Given the description of an element on the screen output the (x, y) to click on. 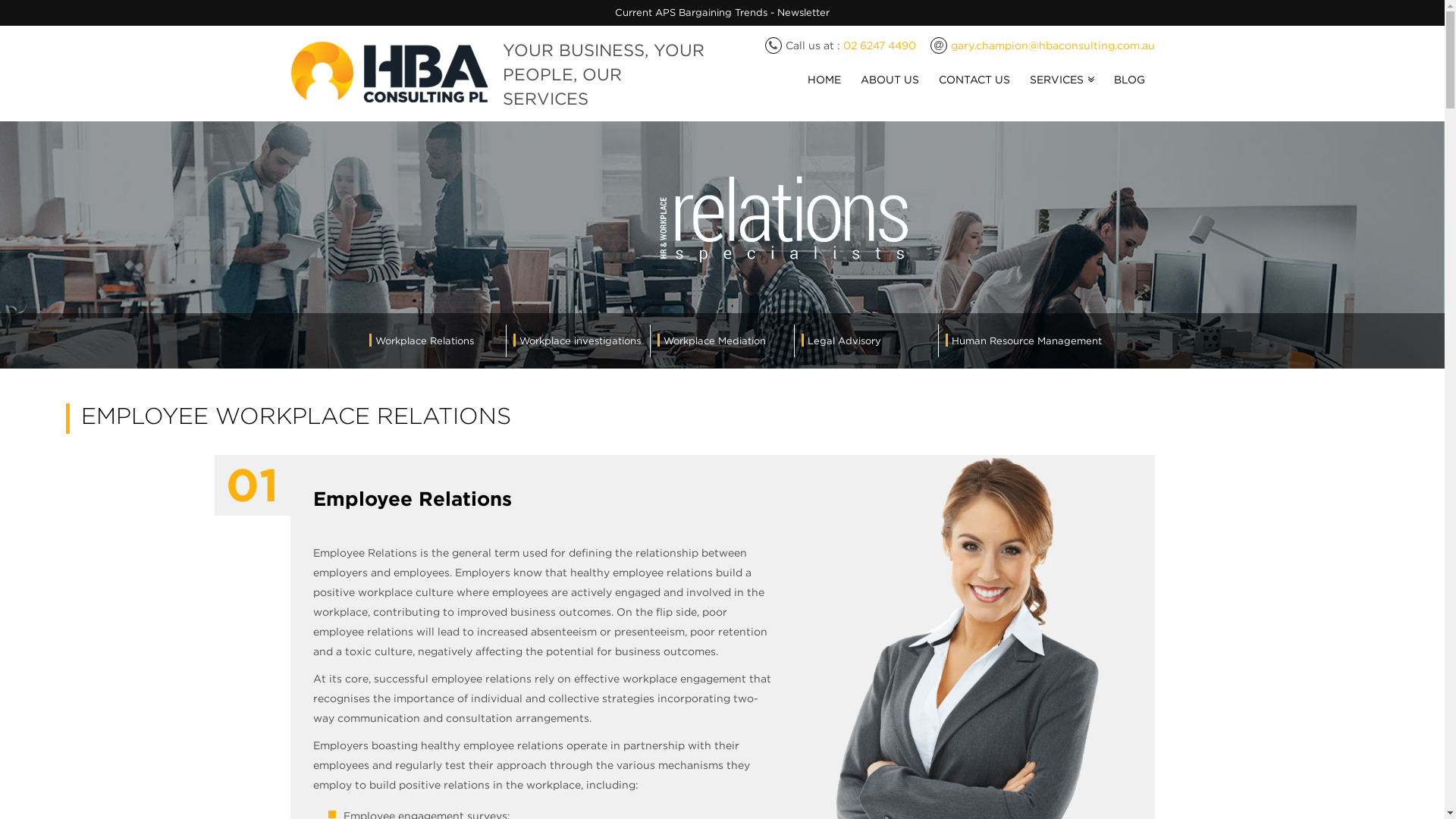
Workplace investigations Element type: text (576, 340)
Legal Advisory Element type: text (840, 340)
SERVICES Element type: text (1061, 91)
CONTACT US Element type: text (973, 91)
BLOG Element type: text (1129, 91)
02 6247 4490 Element type: text (879, 45)
Workplace Mediation Element type: text (710, 340)
Workplace Relations Element type: text (420, 340)
Current APS Bargaining Trends - Newsletter Element type: text (722, 12)
ABOUT US Element type: text (889, 91)
HOME Element type: text (823, 91)
Human Resource Management Element type: text (1022, 340)
gary.champion@hbaconsulting.com.au Element type: text (1052, 45)
HR Consulting Element type: hover (387, 73)
